Given the description of an element on the screen output the (x, y) to click on. 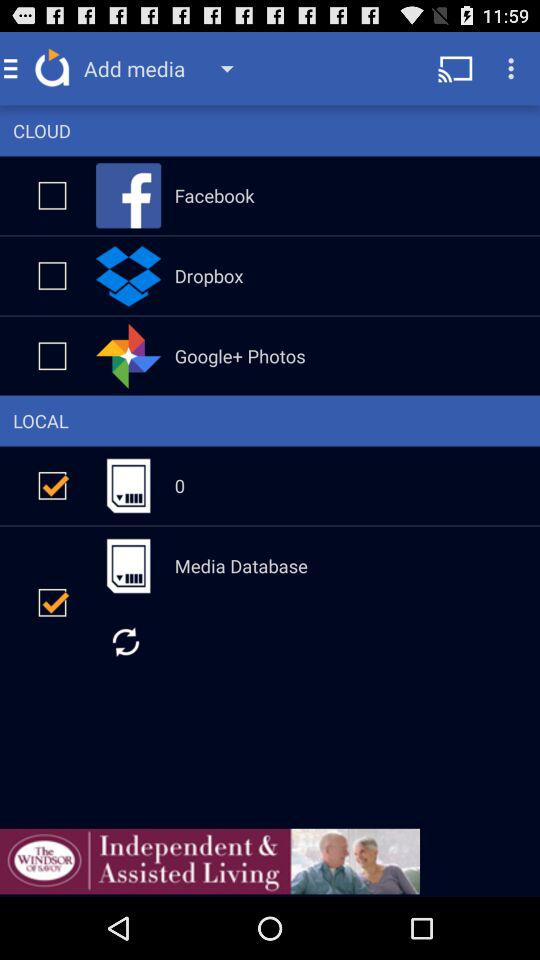
select option (52, 602)
